Given the description of an element on the screen output the (x, y) to click on. 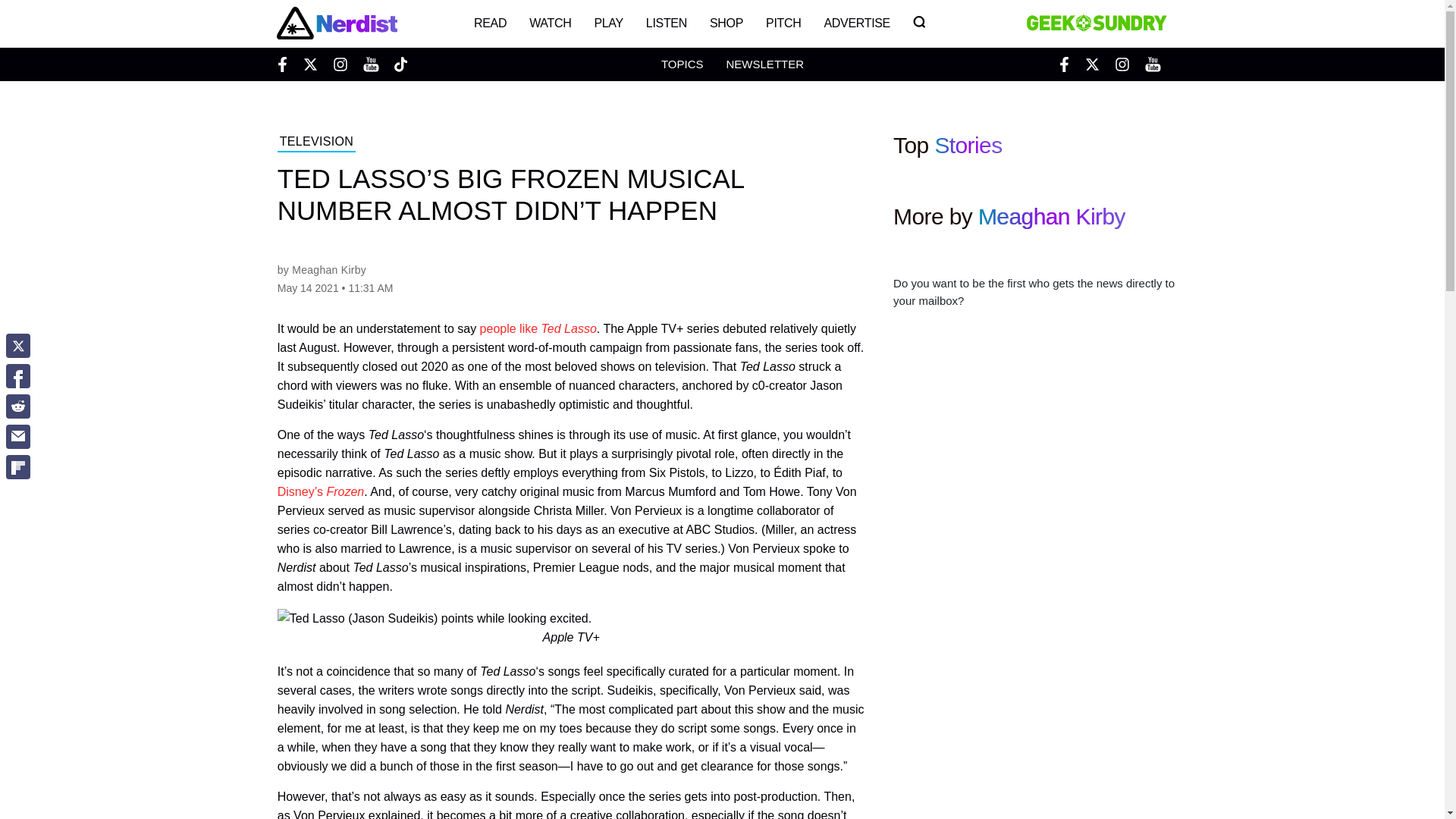
PITCH (783, 22)
Topics (681, 63)
PLAY (607, 22)
Newsletter (764, 63)
Instagram Nerdist (339, 63)
READ (490, 22)
Youtube Nerdist (370, 63)
LISTEN (666, 22)
NEWSLETTER (764, 63)
Meaghan Kirby (329, 269)
